Given the description of an element on the screen output the (x, y) to click on. 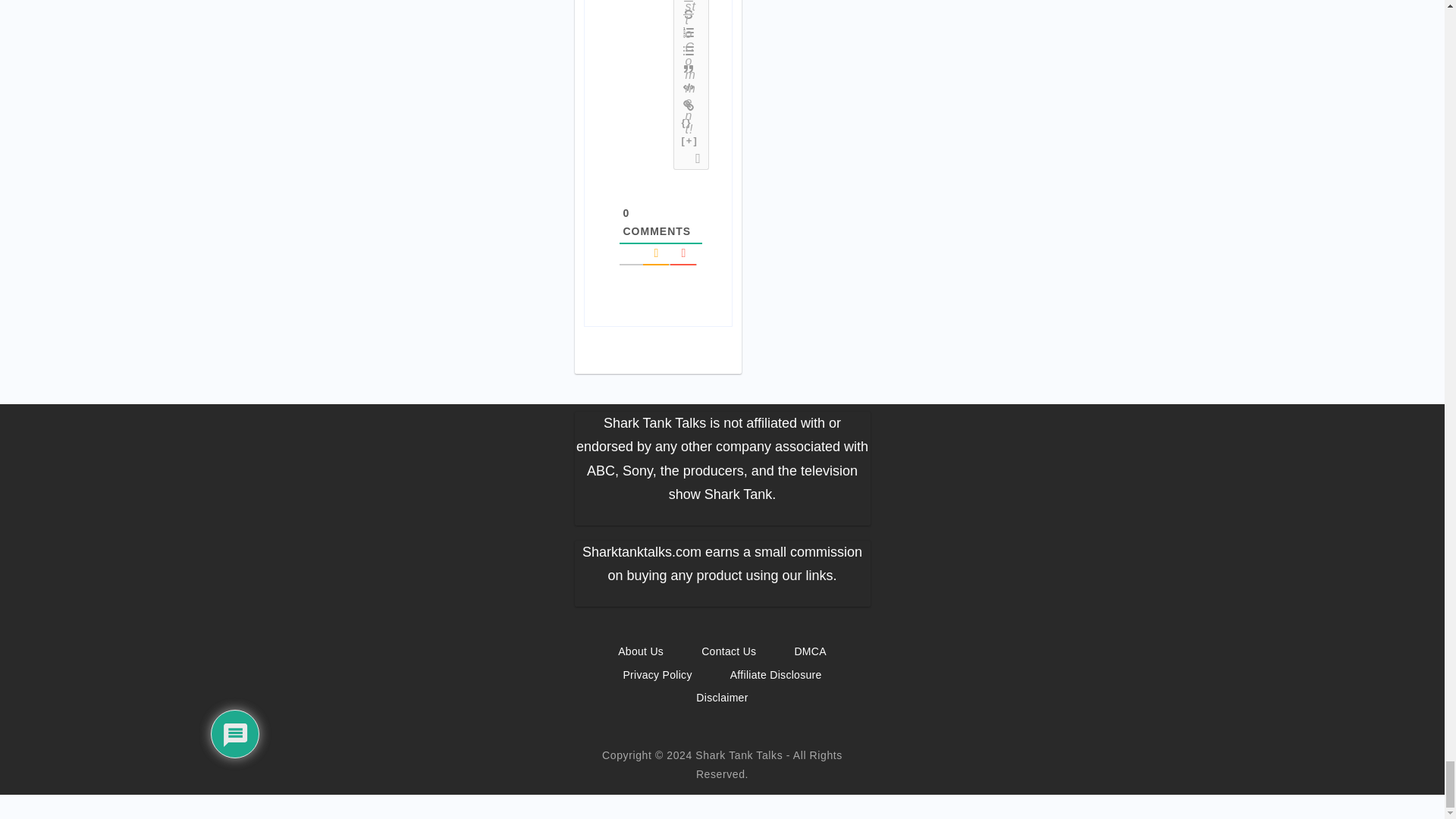
Ordered List (688, 32)
Link (688, 105)
Source Code (686, 123)
Strike (688, 13)
Underline (688, 2)
Blockquote (688, 68)
Spoiler (689, 141)
Code Block (688, 86)
Unordered List (688, 50)
